Given the description of an element on the screen output the (x, y) to click on. 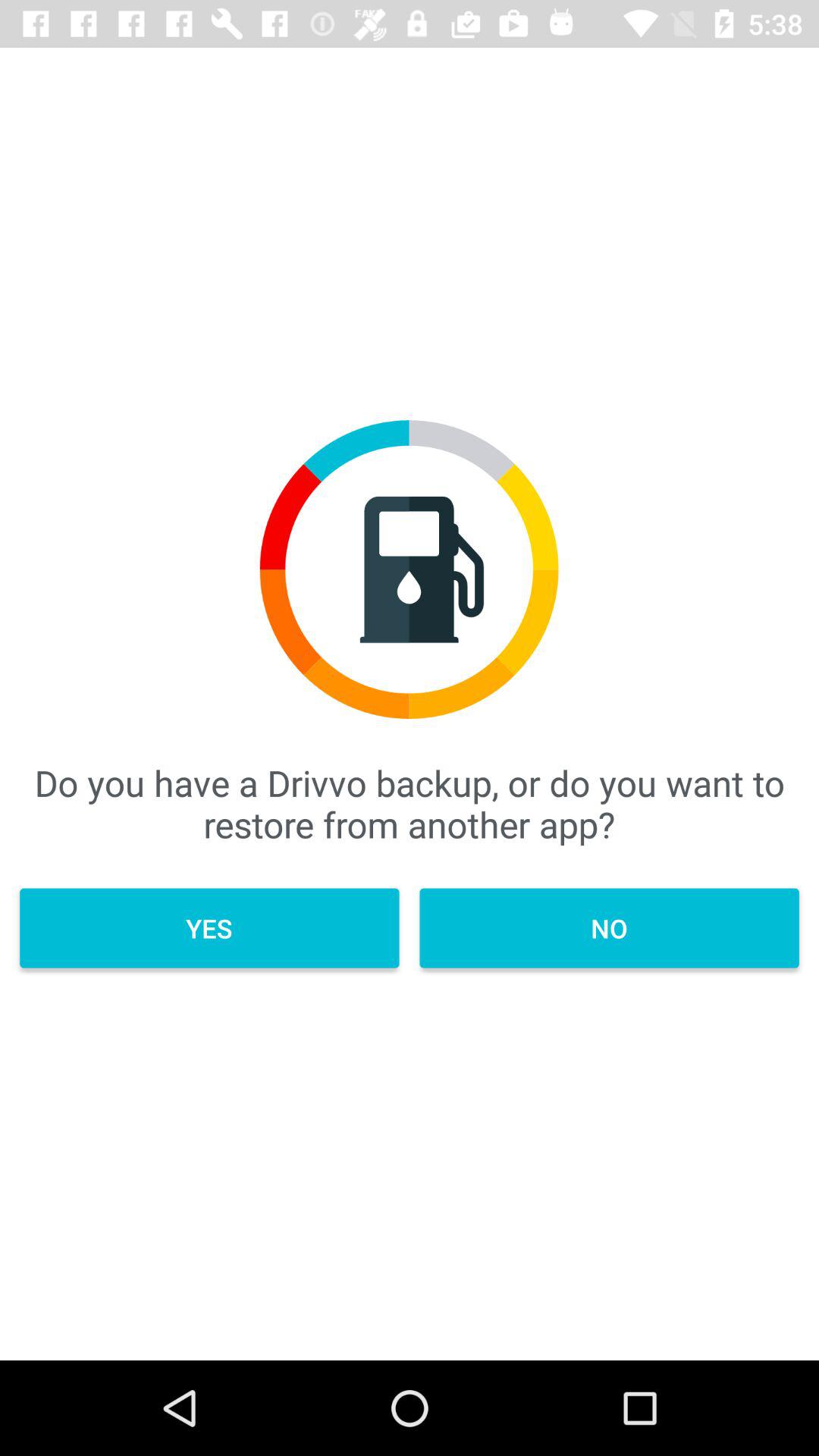
swipe until no (609, 928)
